Given the description of an element on the screen output the (x, y) to click on. 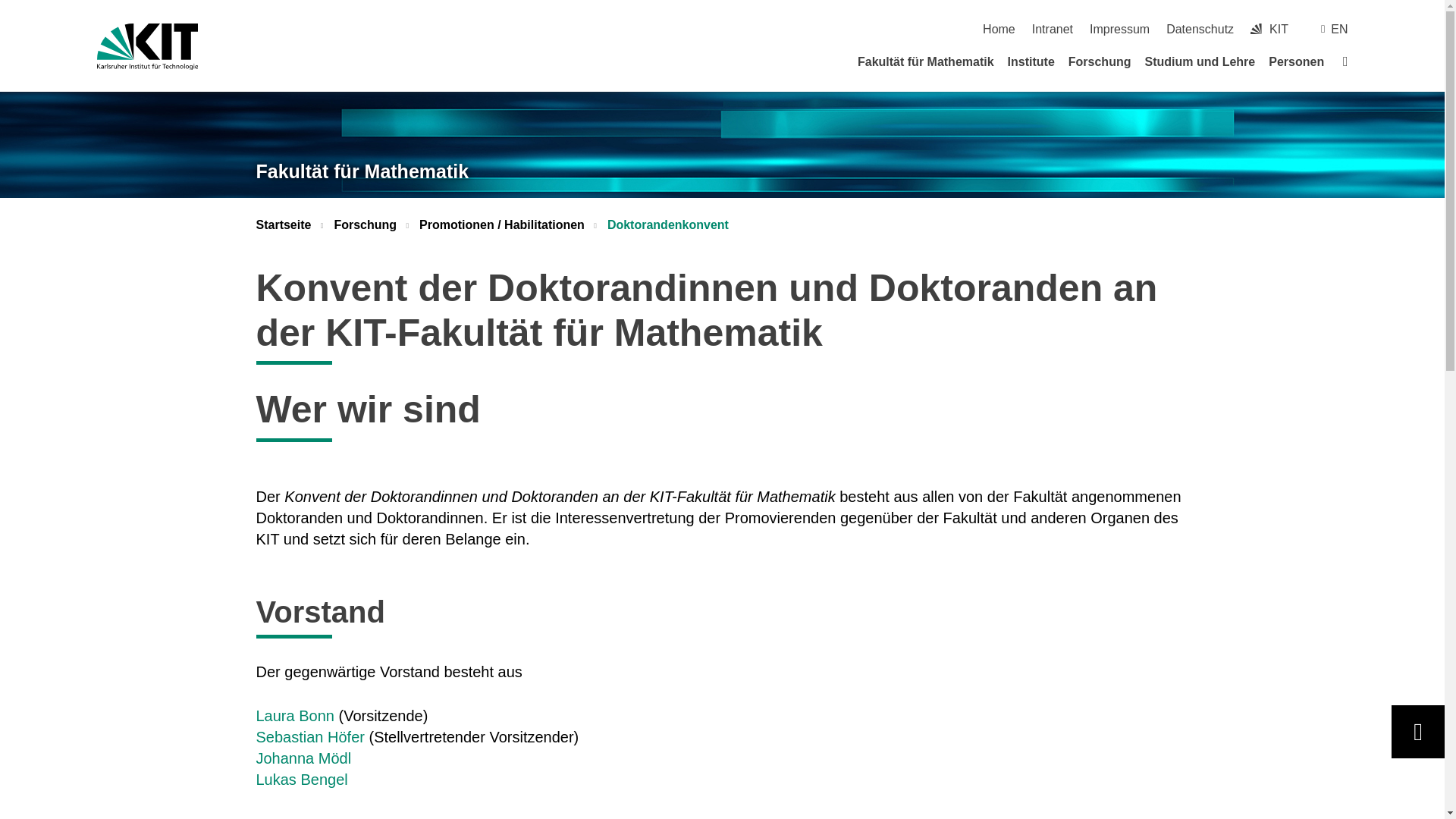
KIT KIT (1269, 29)
Datenschutz (1199, 29)
Intranet (1052, 29)
KIT-Logo - Link zur KIT-Startseite (147, 46)
Home (998, 29)
Impressum (1119, 29)
EN (1339, 29)
KIT (1255, 28)
